Given the description of an element on the screen output the (x, y) to click on. 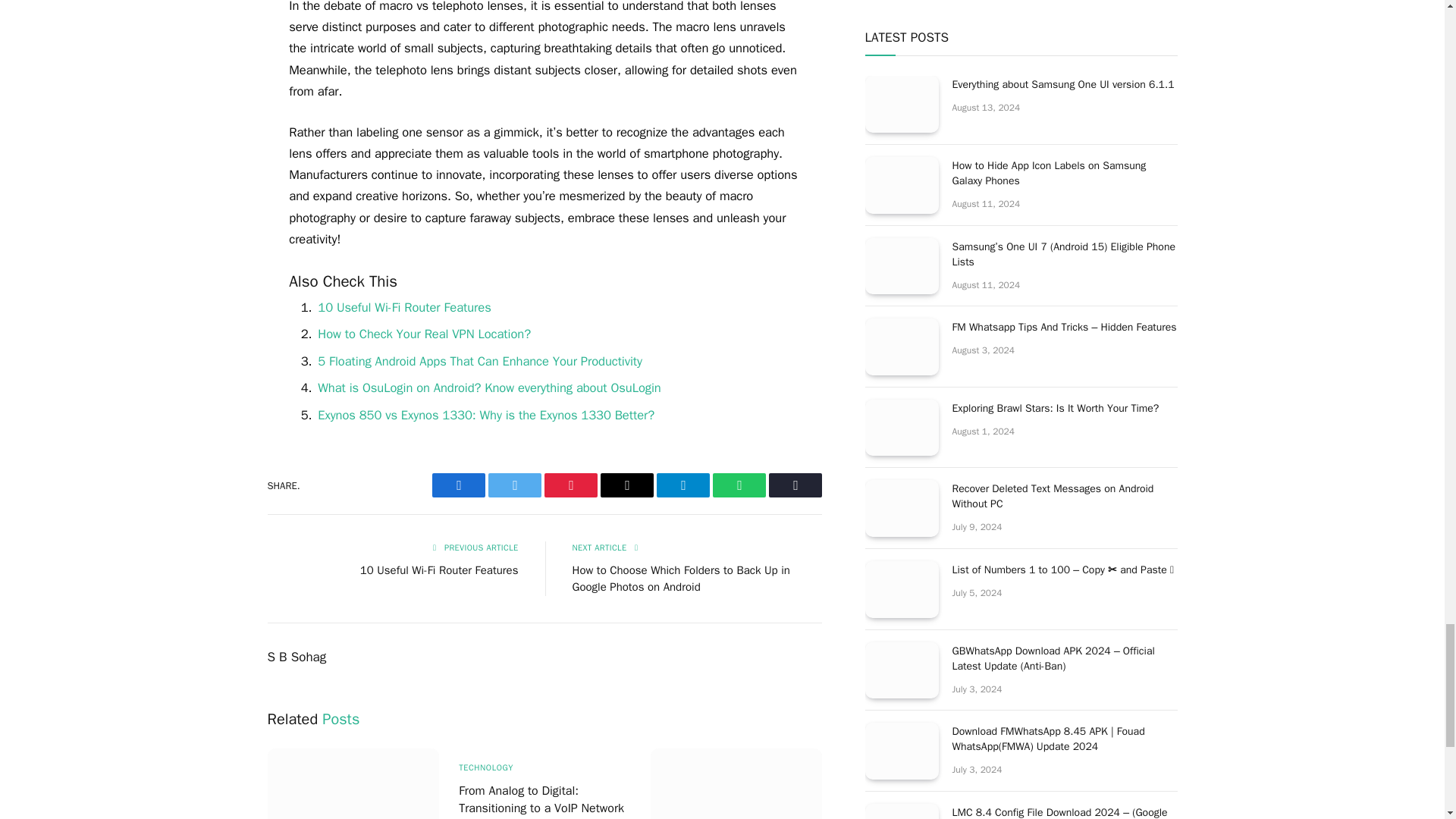
Exynos 850 vs Exynos 1330: Why is the Exynos 1330 Better? (485, 415)
How to Check Your Real VPN Location? (424, 333)
Twitter (514, 485)
Pinterest (570, 485)
5 Floating Android Apps That Can Enhance Your Productivity (479, 360)
What is OsuLogin on Android? Know everything about OsuLogin (489, 387)
Facebook (458, 485)
10 Useful Wi-Fi Router Features (403, 307)
